Given the description of an element on the screen output the (x, y) to click on. 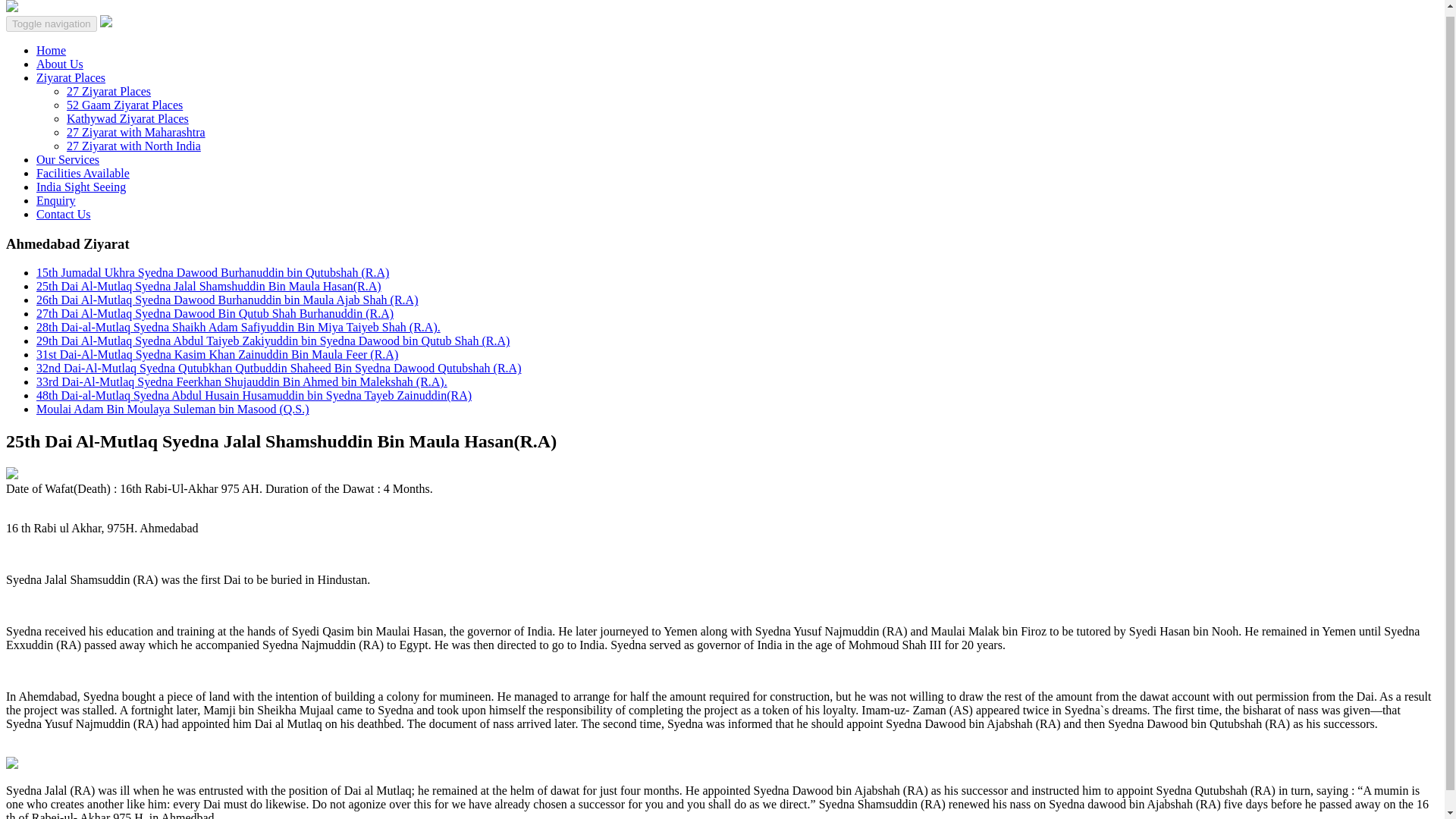
27 Ziyarat with Maharashtra (135, 132)
Our Services (67, 159)
About Us (59, 63)
52 Gaam Ziyarat Places (124, 104)
Contact Us (63, 214)
Enquiry (55, 200)
Home (50, 50)
27 Ziyarat with North India (133, 145)
India Sight Seeing (80, 186)
Kathywad Ziyarat Places (127, 118)
27 Ziyarat Places (108, 91)
Ziyarat Places (70, 77)
Facilities Available (82, 173)
Toggle navigation (51, 23)
